Given the description of an element on the screen output the (x, y) to click on. 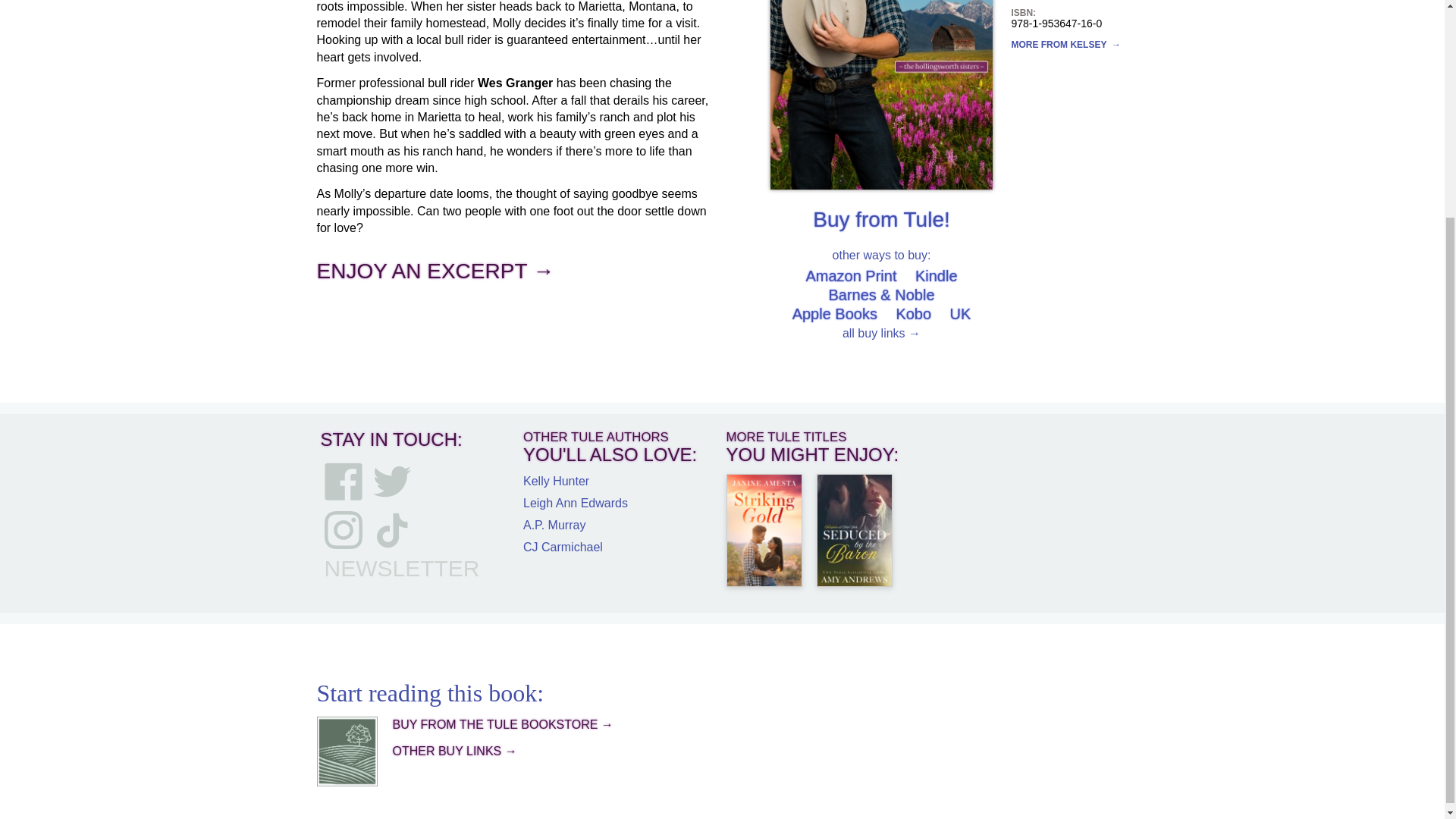
Apple Books (834, 313)
NEWSLETTER (402, 568)
Facebook (343, 481)
Instagram (343, 529)
TikTok (391, 529)
Amazon Print (850, 275)
Kindle (936, 275)
UK (960, 313)
Kelly Hunter (555, 481)
Kobo (913, 313)
